Given the description of an element on the screen output the (x, y) to click on. 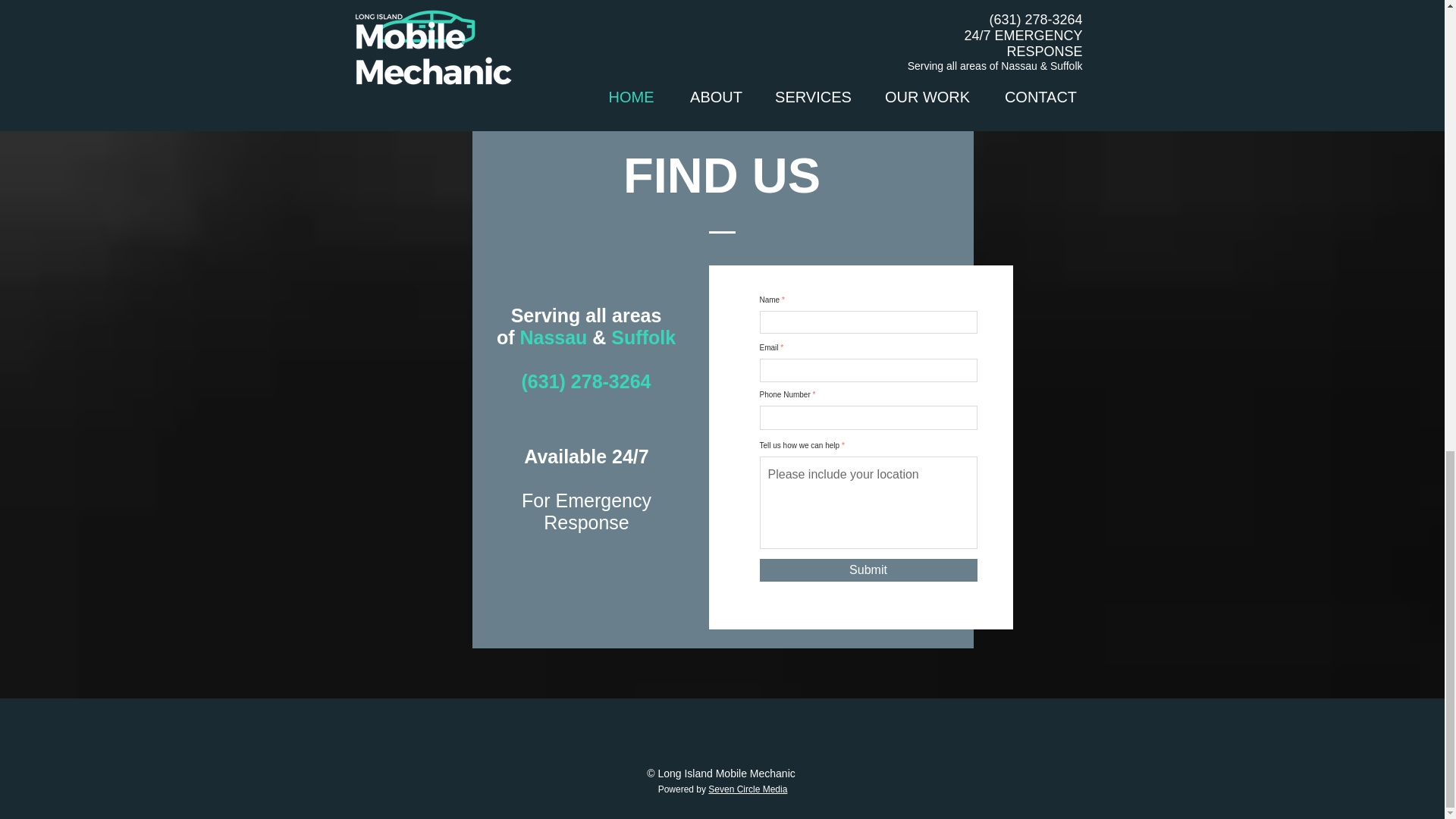
Submit (868, 569)
Seven Circle Media (747, 788)
